Given the description of an element on the screen output the (x, y) to click on. 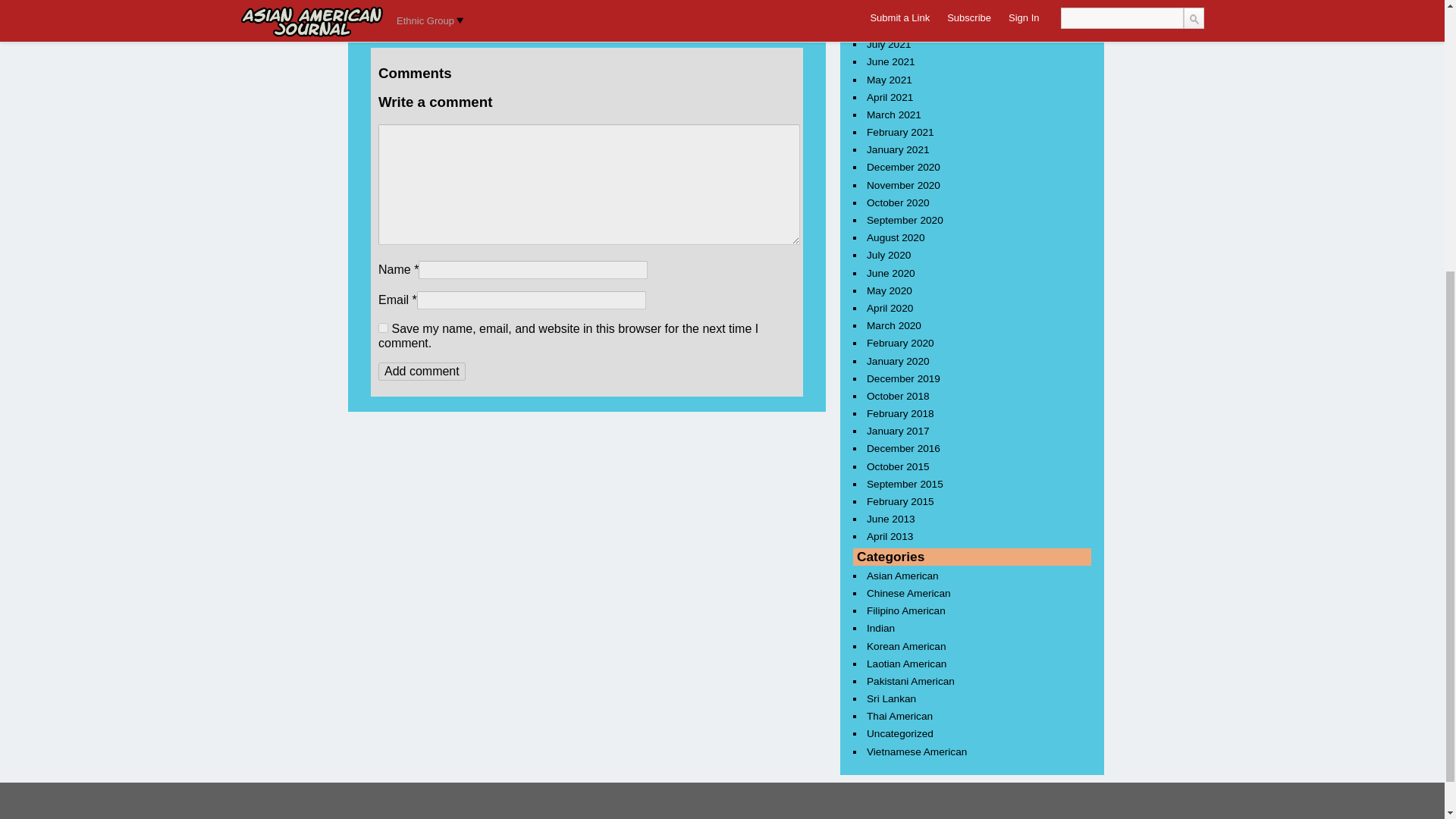
Add comment (421, 371)
yes (383, 327)
Add comment (421, 371)
Asian American (454, 28)
